Given the description of an element on the screen output the (x, y) to click on. 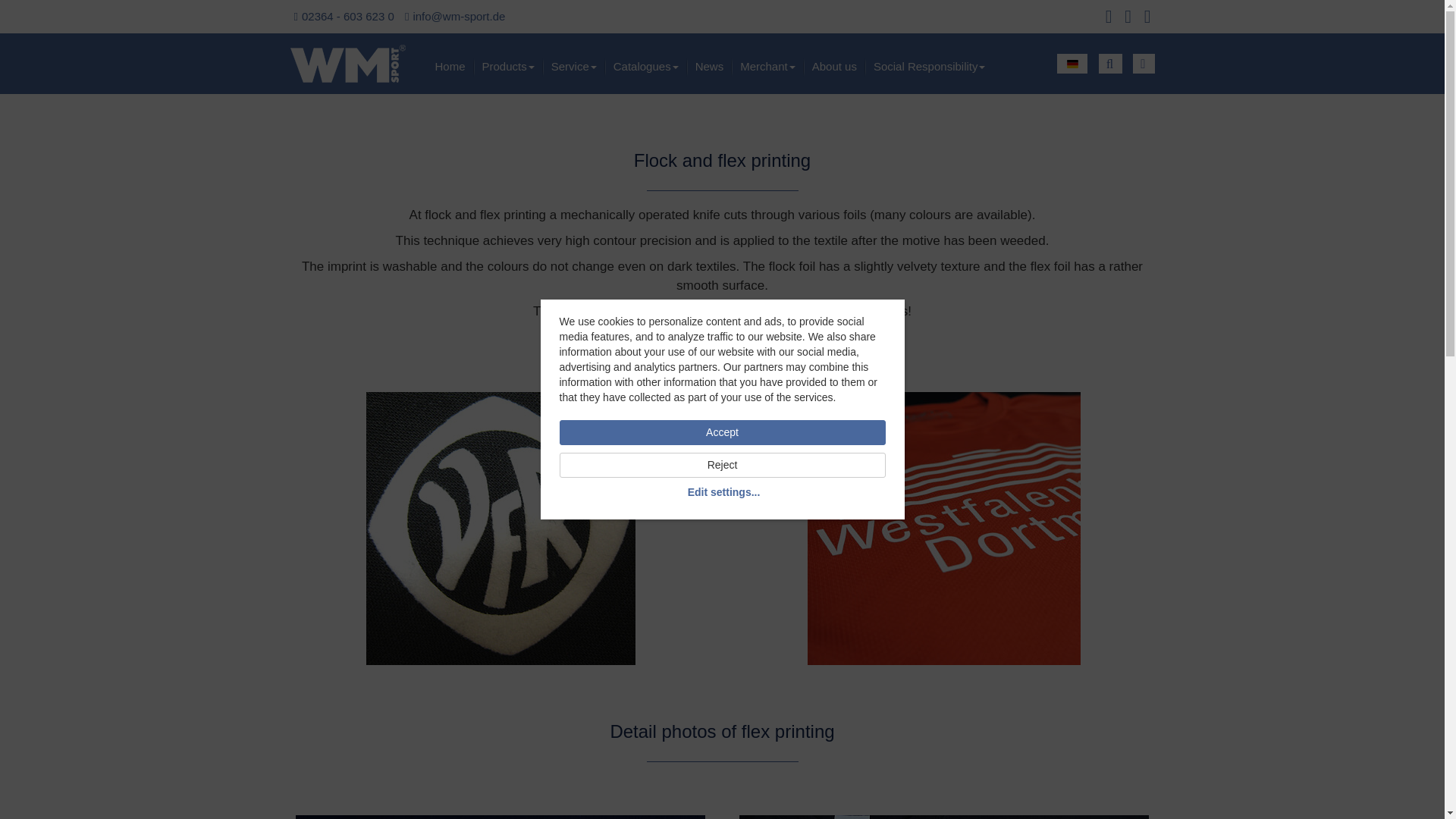
Products (507, 66)
Home (450, 66)
02364 - 603 623 0 (347, 15)
